Given the description of an element on the screen output the (x, y) to click on. 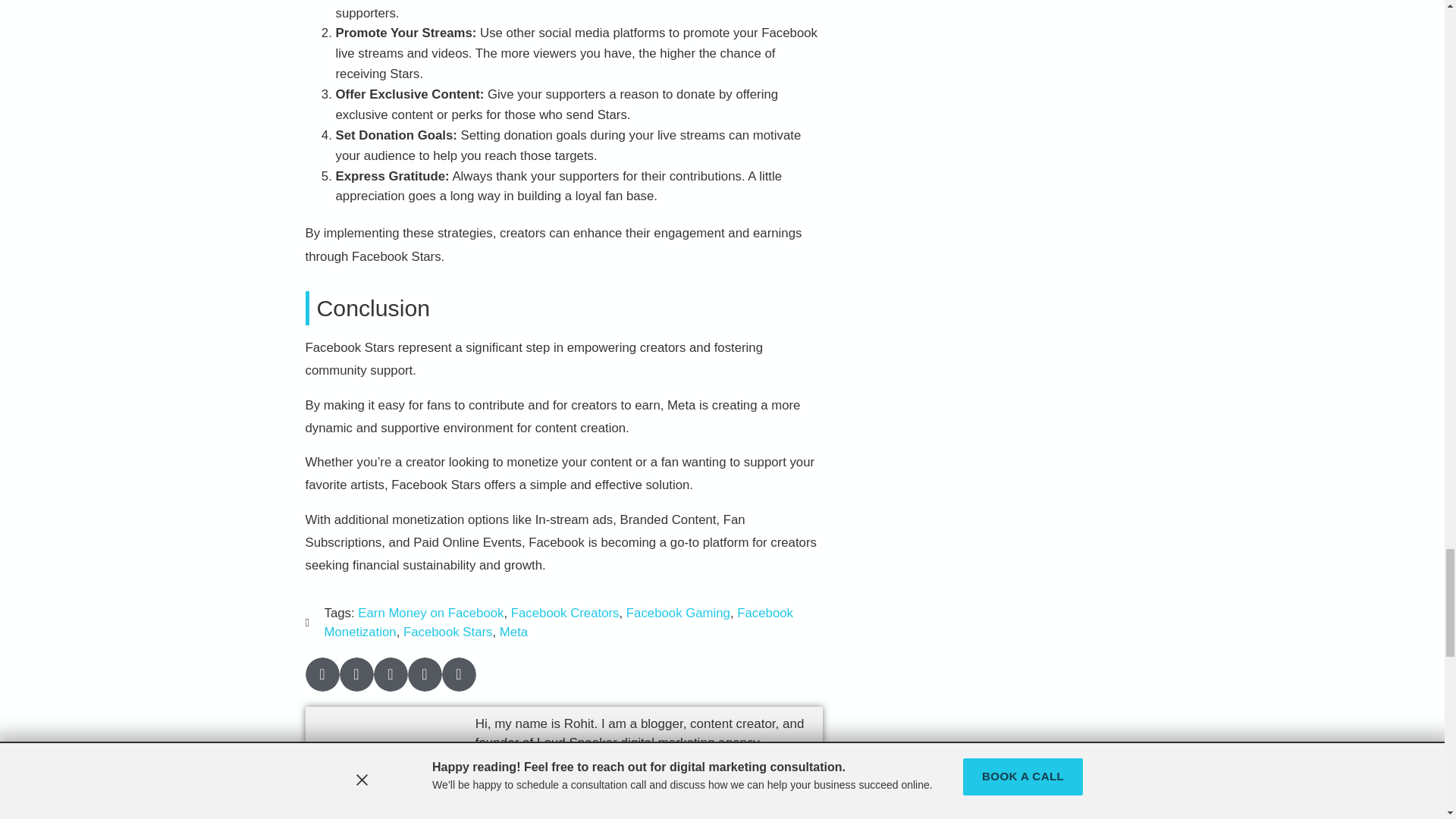
Facebook Monetization (558, 622)
Facebook Creators (565, 612)
Facebook Gaming (678, 612)
Facebook Stars (448, 631)
Meta (513, 631)
Earn Money on Facebook (430, 612)
